Given the description of an element on the screen output the (x, y) to click on. 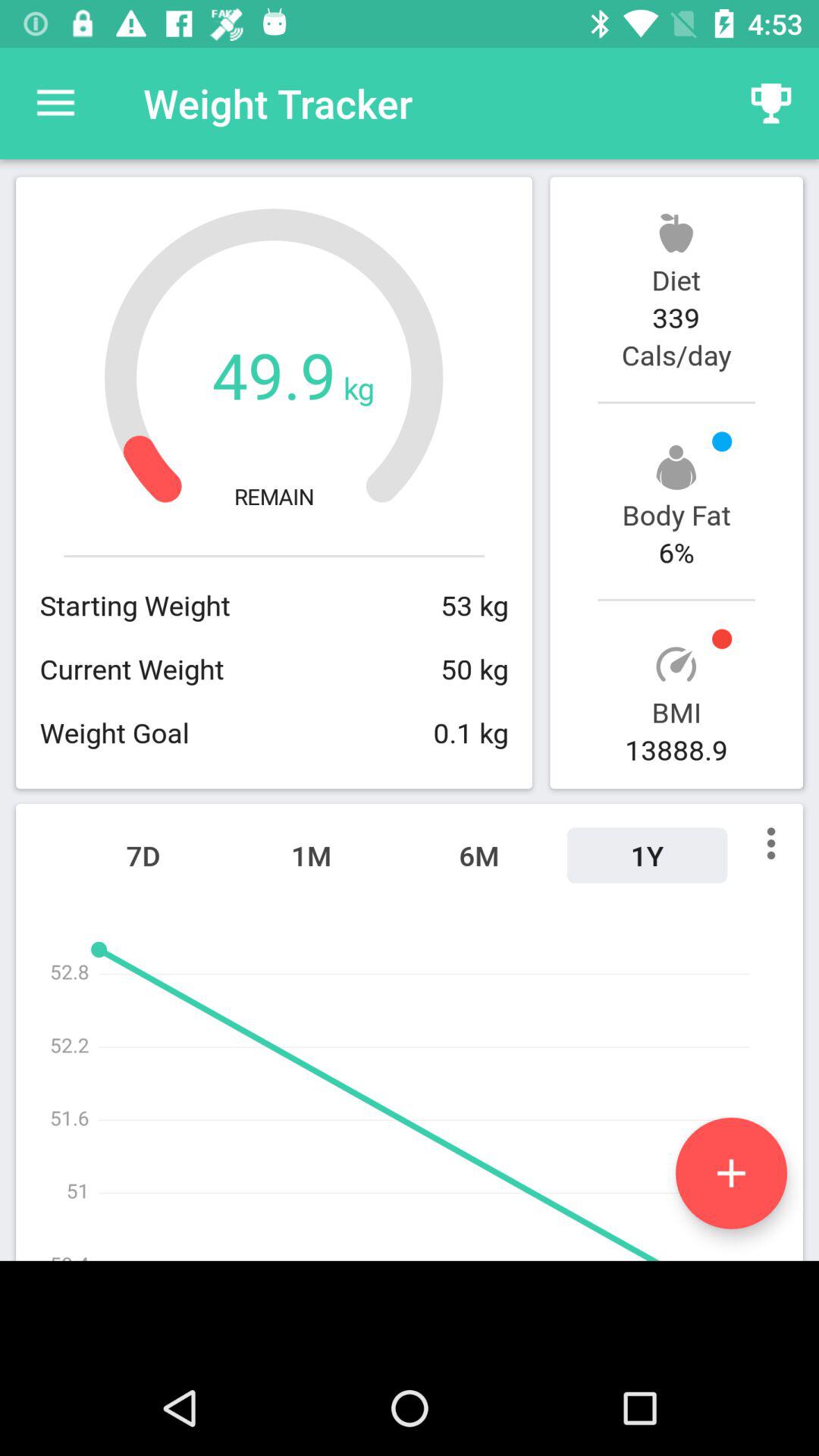
choose the item next to 1y (479, 855)
